Given the description of an element on the screen output the (x, y) to click on. 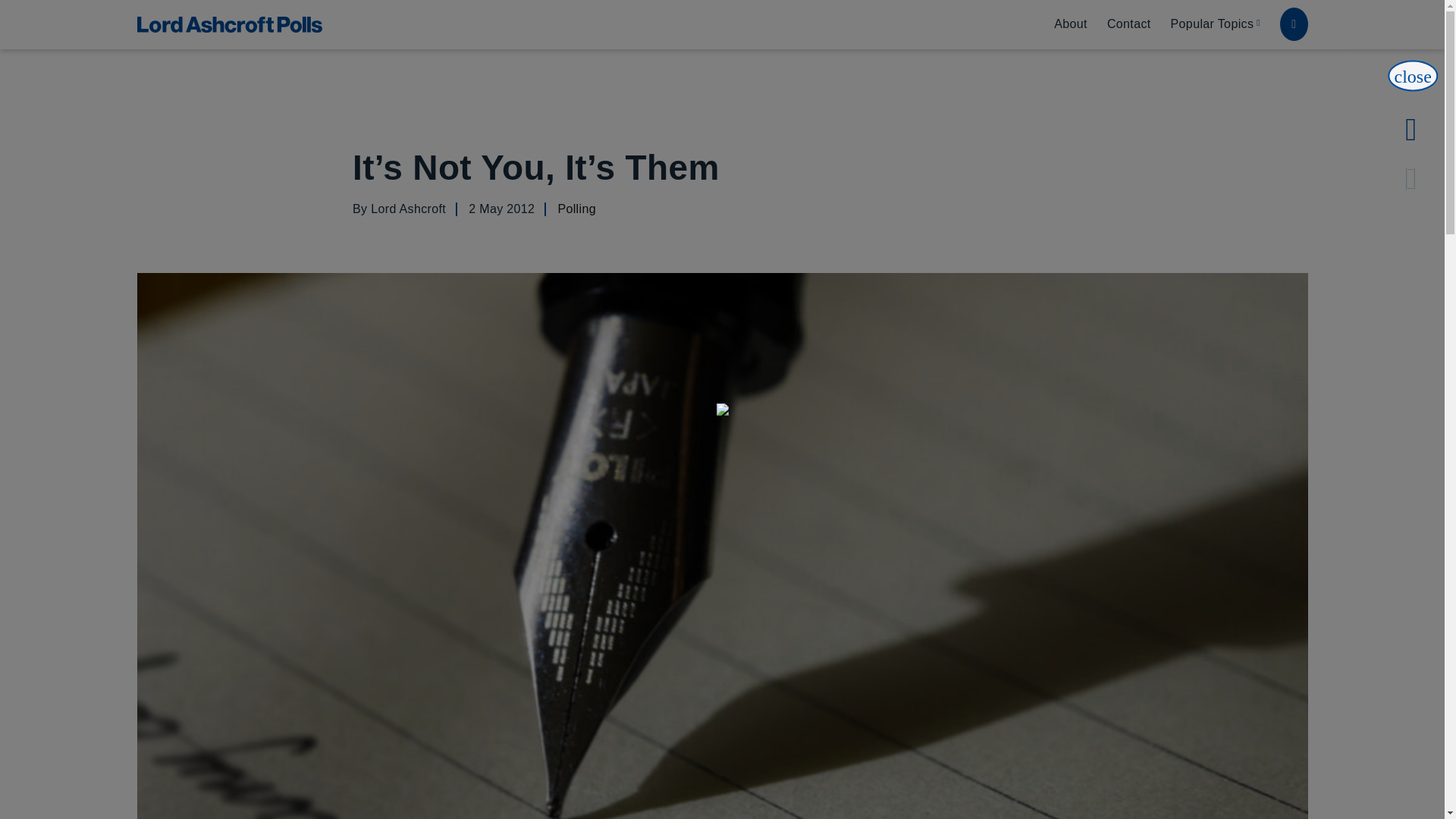
Contact (1128, 23)
Polling (576, 208)
Popular Topics (1220, 23)
About (1070, 23)
